Given the description of an element on the screen output the (x, y) to click on. 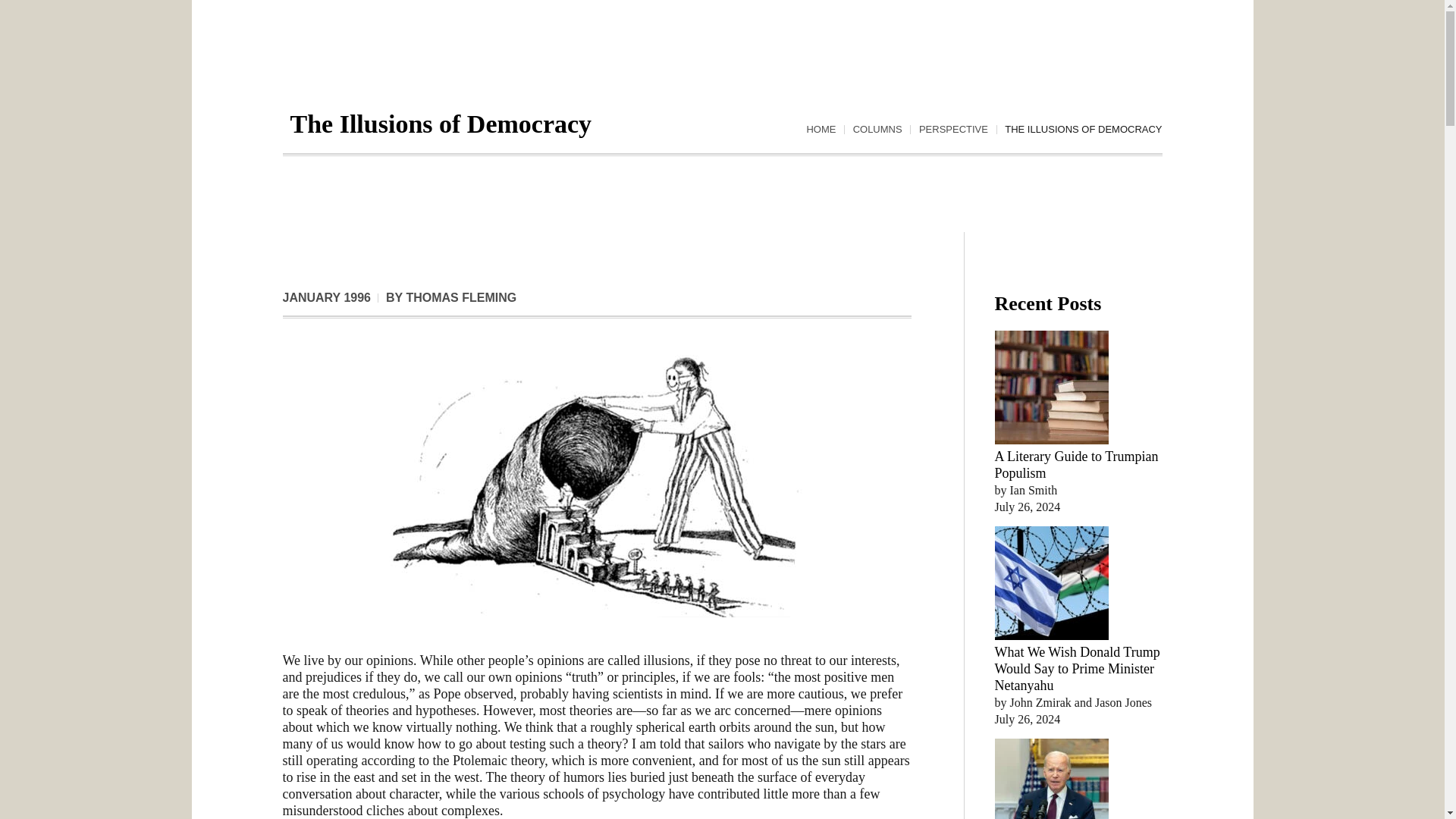
Posts by Thomas Fleming (461, 297)
January 01,  (326, 297)
A Literary Guide to Trumpian Populism (1076, 464)
HOME (820, 129)
THOMAS FLEMING (461, 297)
PERSPECTIVE (953, 129)
COLUMNS (877, 129)
